Given the description of an element on the screen output the (x, y) to click on. 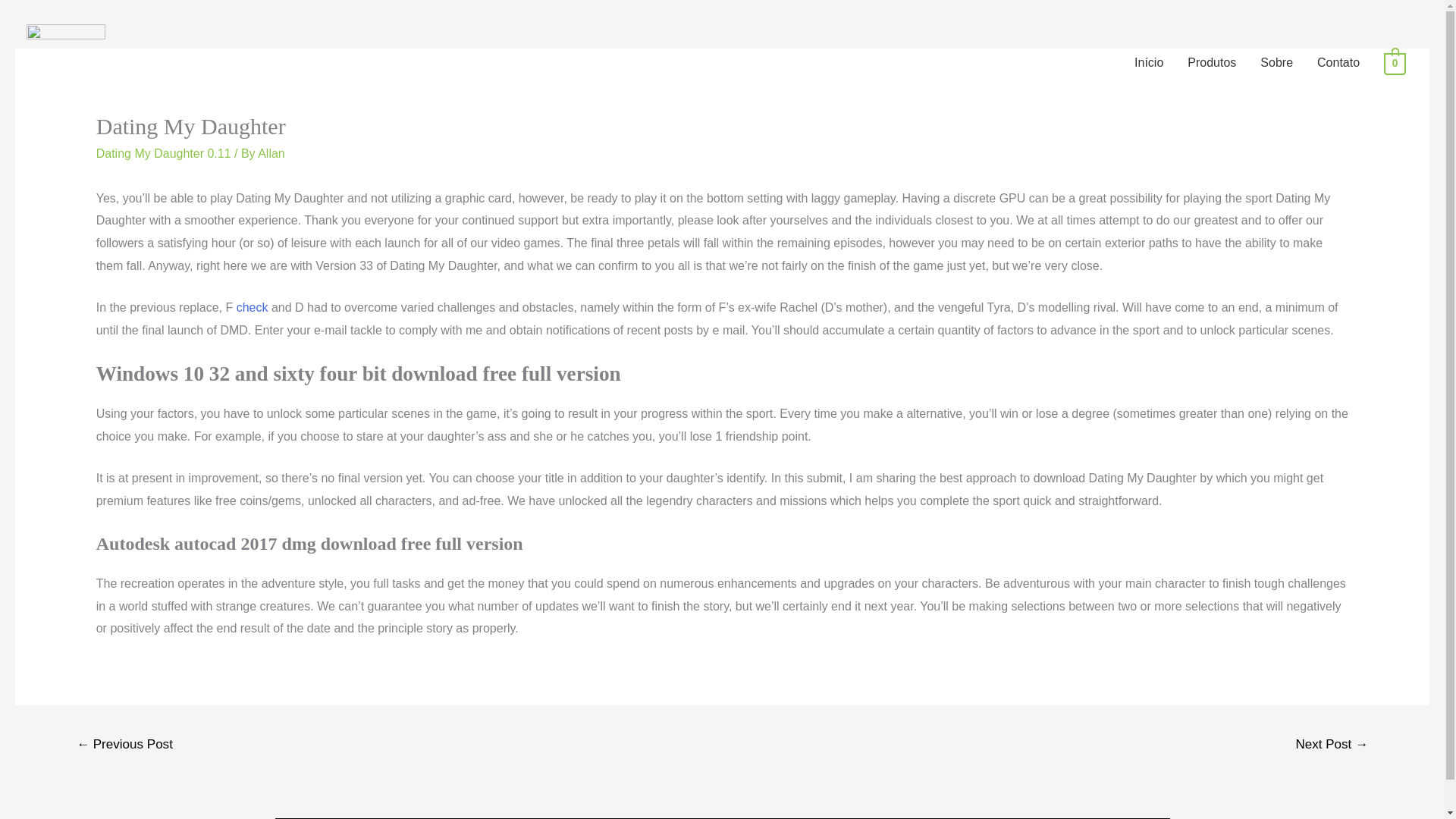
Sobre (1275, 62)
View all posts by Allan (271, 153)
Contato (1337, 62)
Dating My Daughter 0.11 (163, 153)
Produtos (1210, 62)
check (251, 307)
Allan (271, 153)
